Given the description of an element on the screen output the (x, y) to click on. 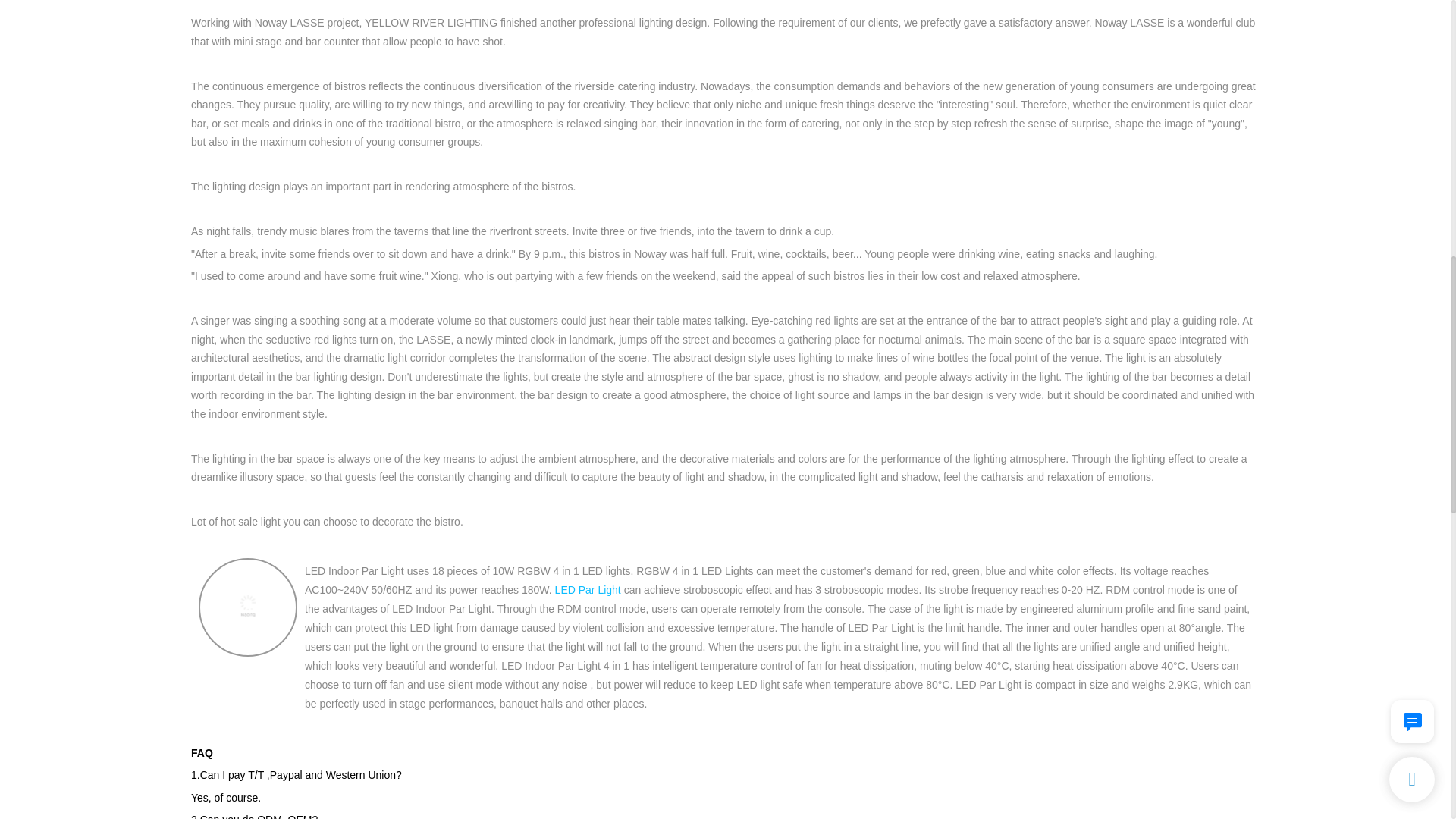
LED Par Light (587, 589)
LED Par Light (587, 589)
